Given the description of an element on the screen output the (x, y) to click on. 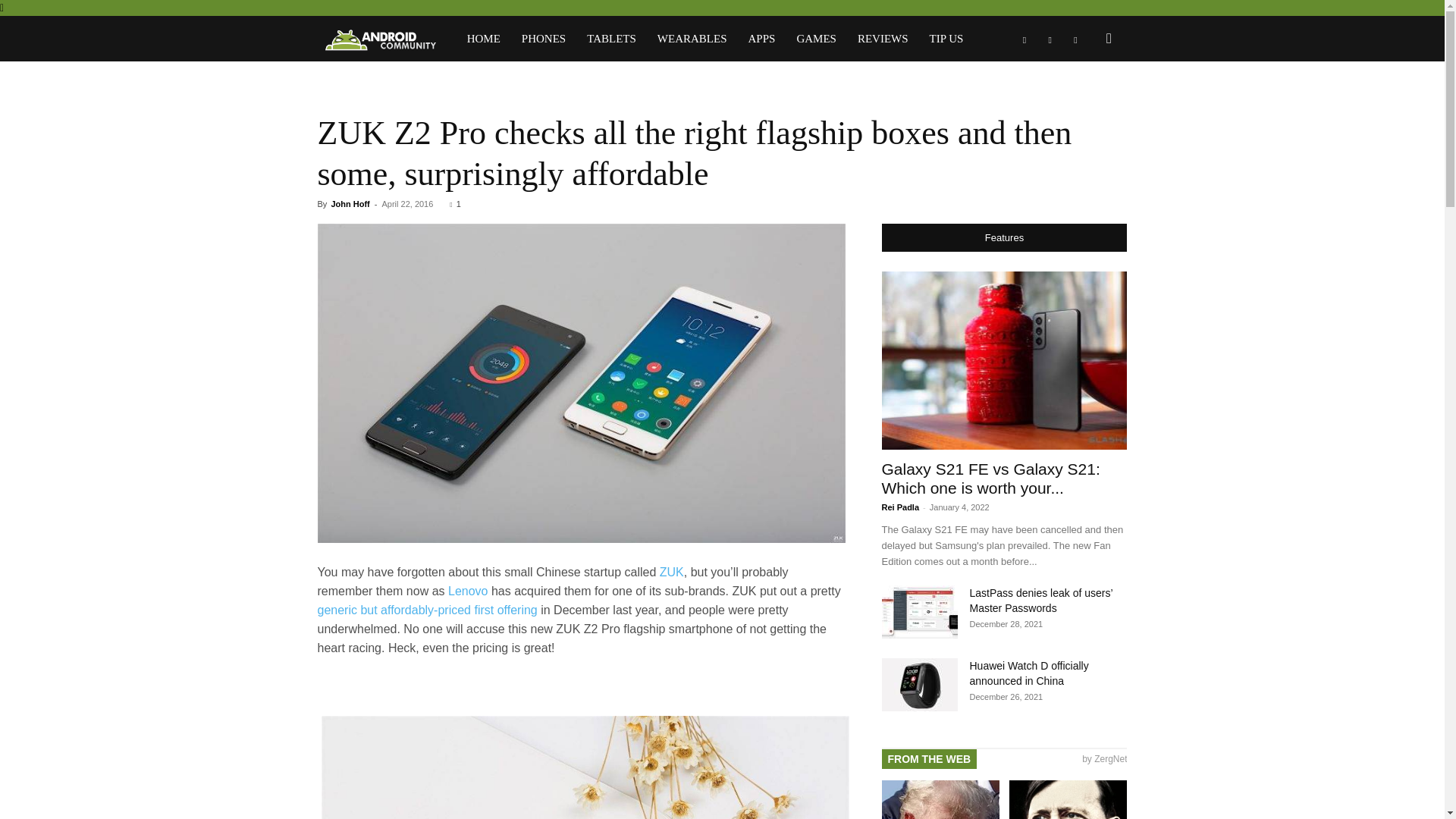
Android Community (379, 39)
Search (1085, 103)
TIP US (946, 38)
Android Community (386, 38)
Galaxy S21 FE vs Galaxy S21: Which one is worth your money (1003, 360)
WEARABLES (692, 38)
HOME (484, 38)
John Hoff (349, 203)
1 (454, 203)
ZUK (671, 571)
TABLETS (611, 38)
APPS (762, 38)
generic but affordably-priced first offering (427, 609)
PHONES (543, 38)
